Given the description of an element on the screen output the (x, y) to click on. 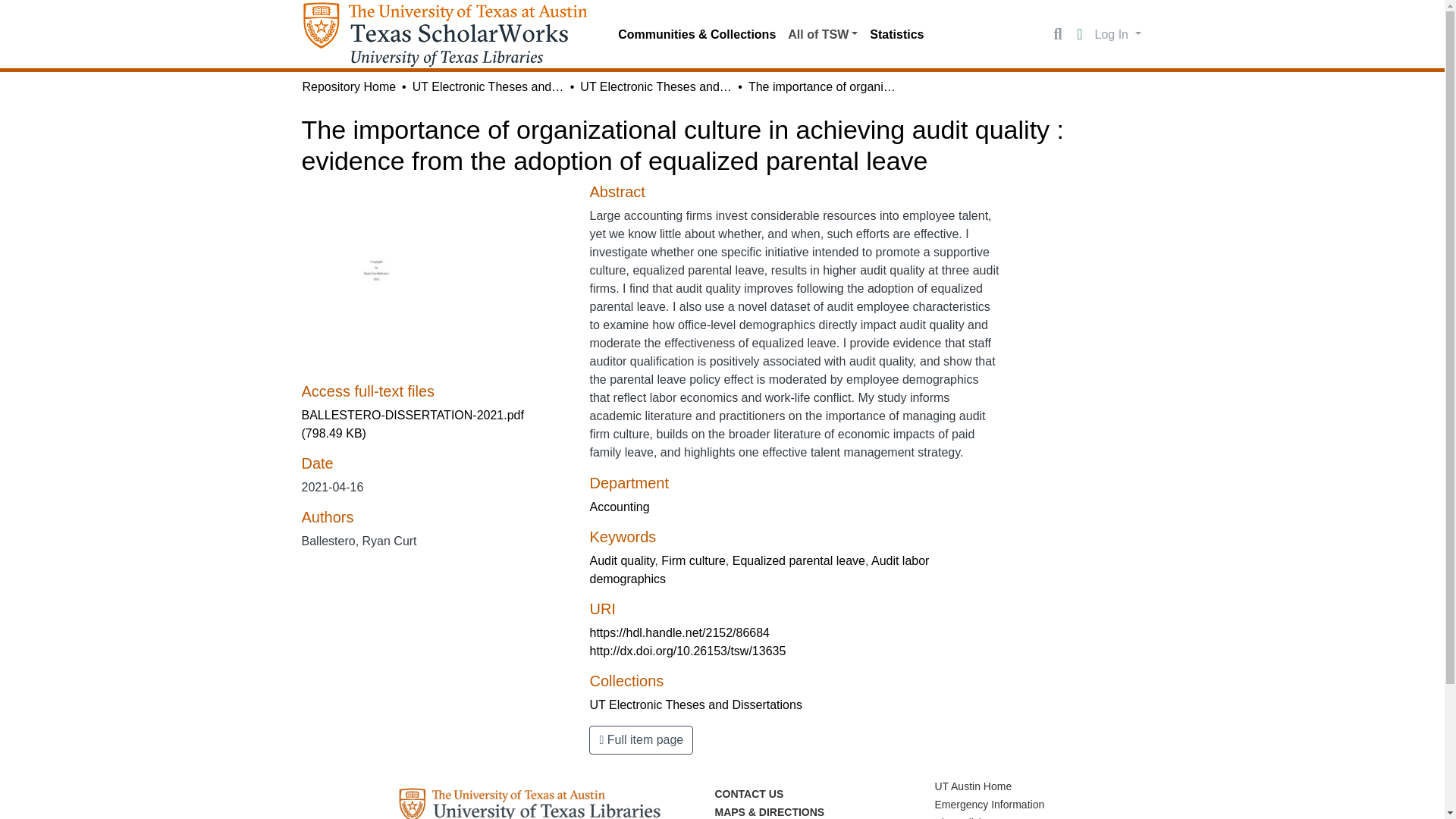
Repository Home (348, 86)
UT Electronic Theses and Dissertations (655, 86)
Full item page (641, 739)
Statistics (896, 34)
Language switch (1079, 34)
CONTACT US (748, 793)
Statistics (896, 34)
Audit labor demographics (758, 569)
Log In (1117, 33)
Firm culture (693, 560)
